Given the description of an element on the screen output the (x, y) to click on. 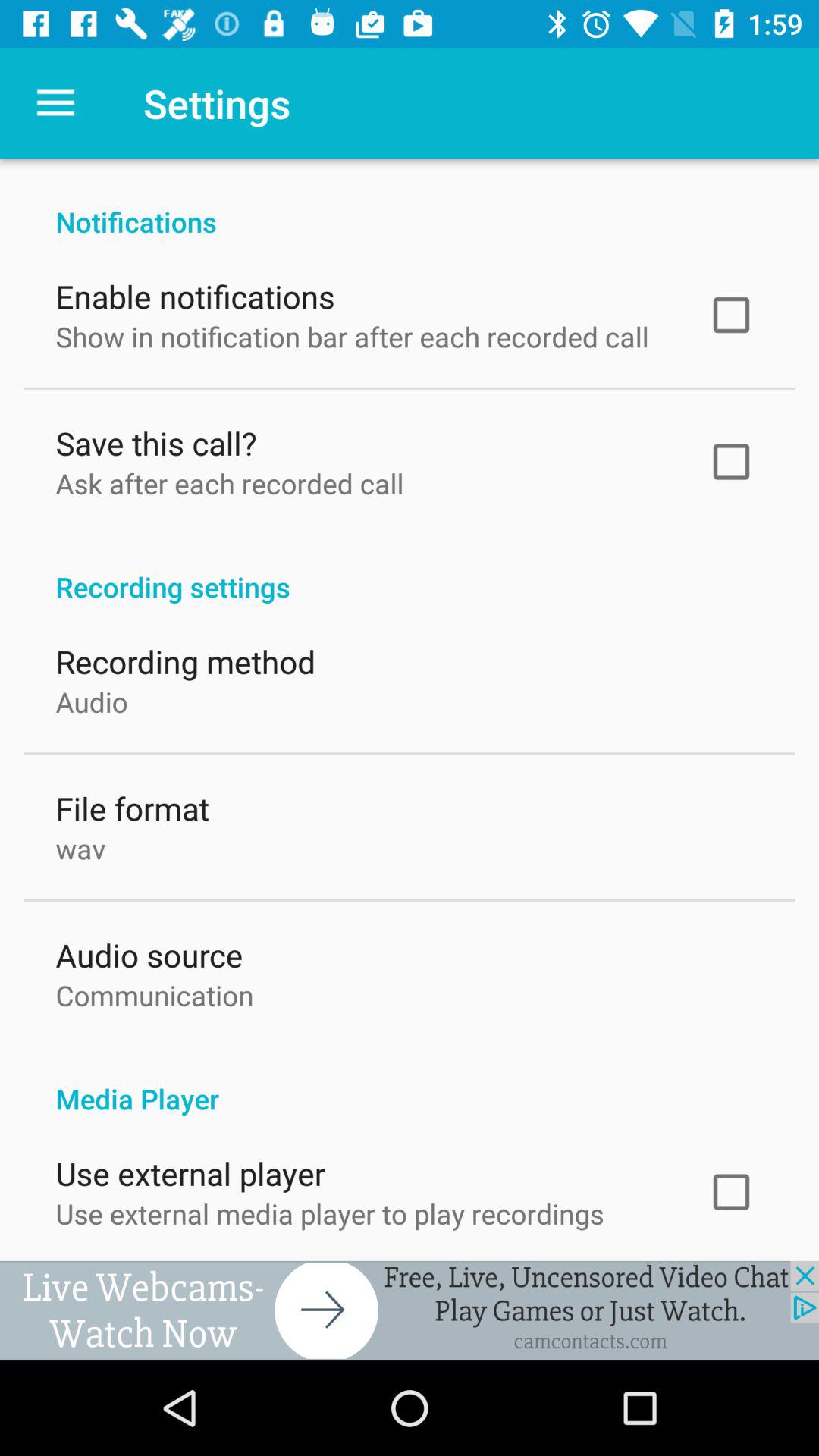
press the icon below the notifications item (194, 292)
